Given the description of an element on the screen output the (x, y) to click on. 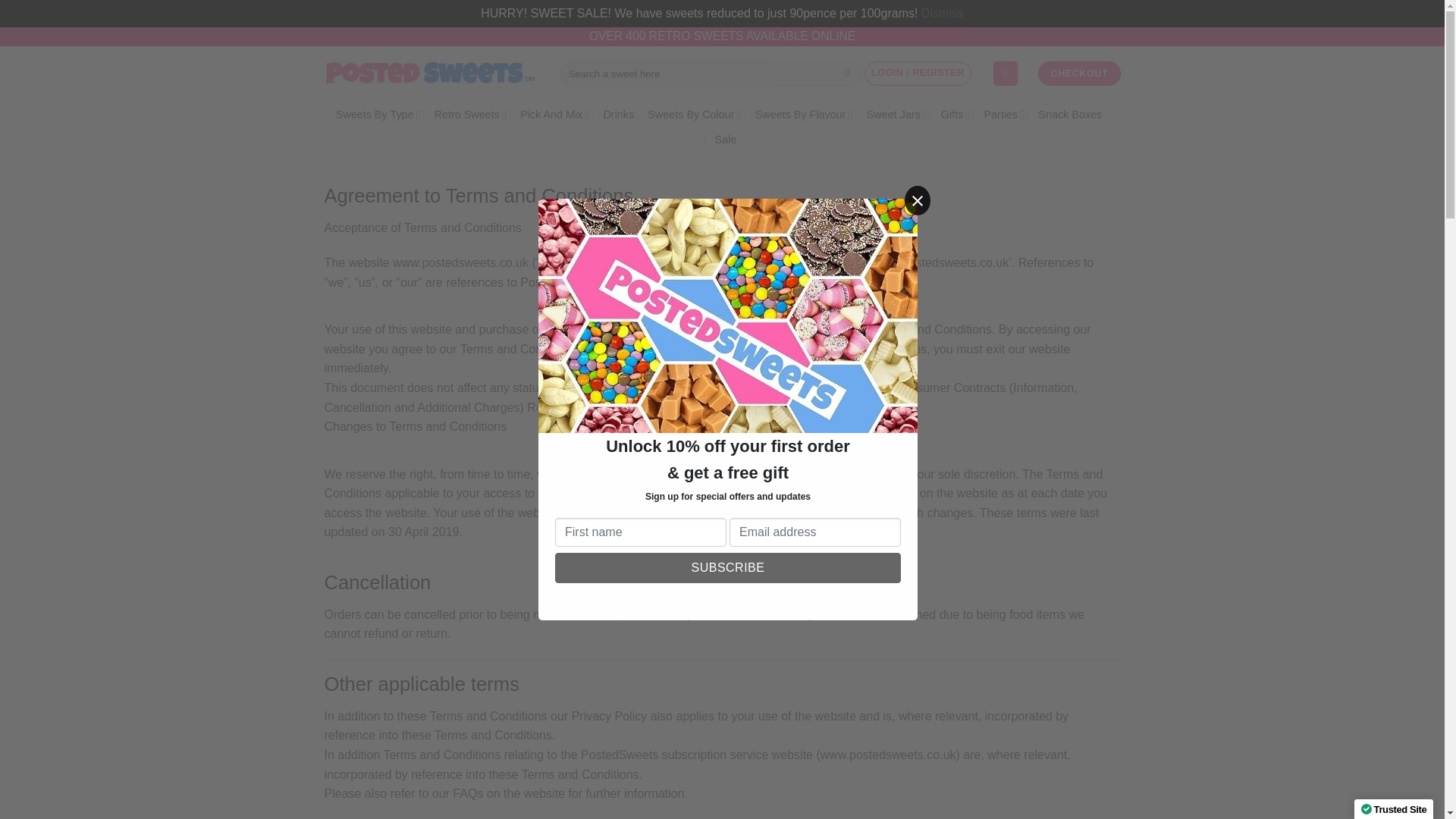
Subscribe (727, 567)
Dismiss (942, 12)
CHECKOUT (1078, 73)
Search (847, 73)
OVER 400 RETRO SWEETS AVAILABLE ONLINE (722, 36)
Basket (1004, 73)
Sweets By Type (378, 114)
Login (917, 73)
